Given the description of an element on the screen output the (x, y) to click on. 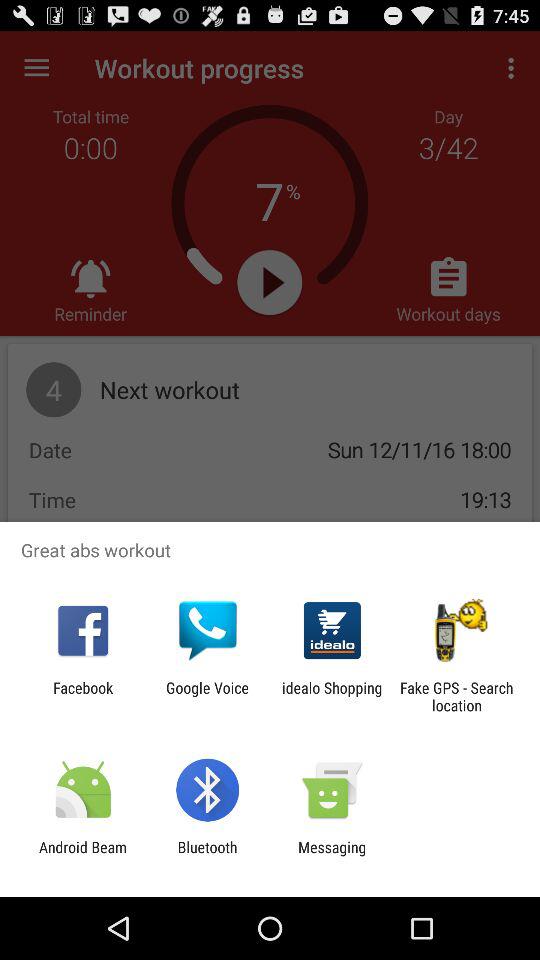
click the icon to the right of android beam app (207, 856)
